Given the description of an element on the screen output the (x, y) to click on. 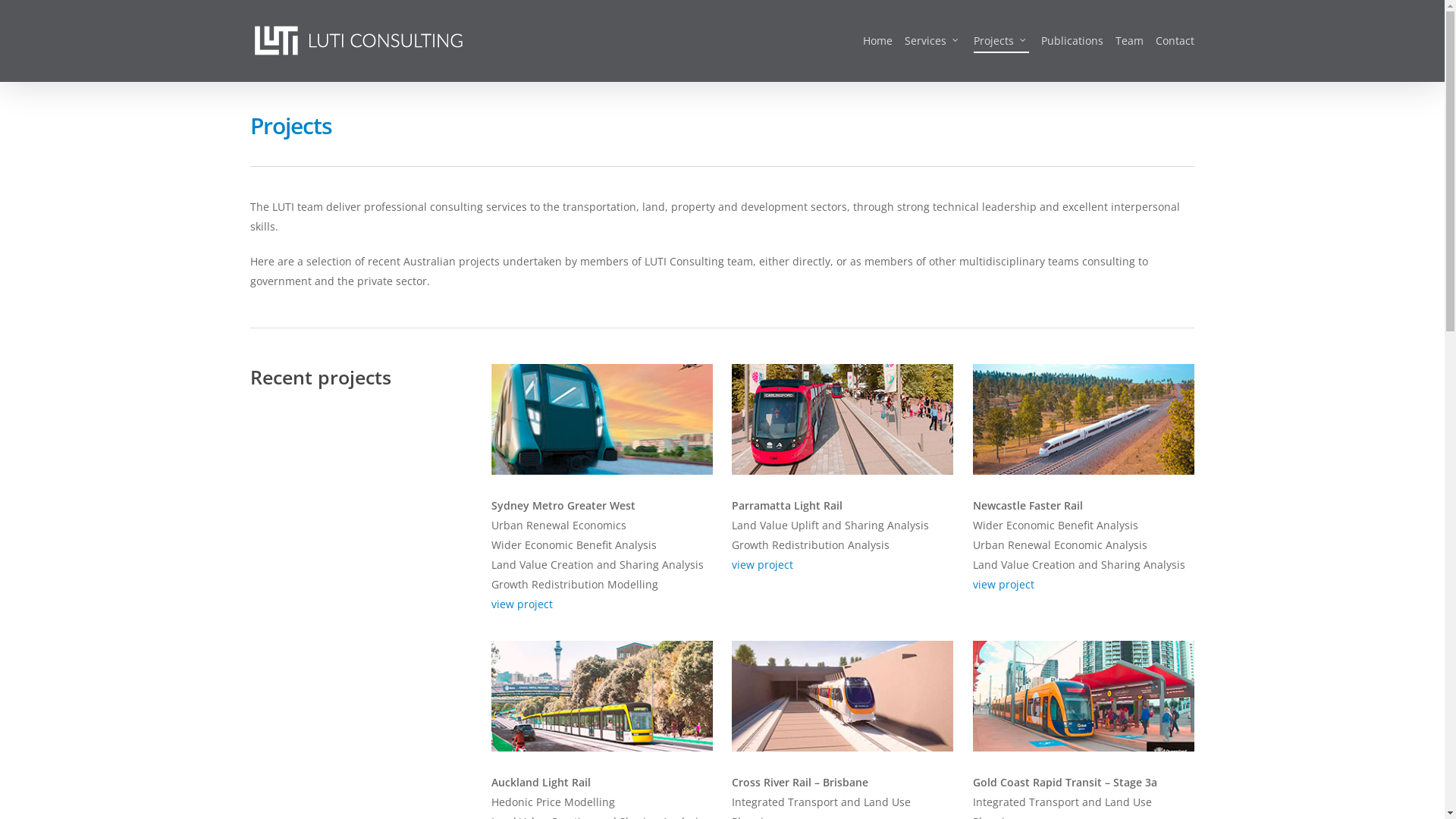
Publications Element type: text (1072, 40)
Contact Element type: text (1174, 40)
view project Element type: text (521, 603)
Services Element type: text (932, 40)
Team Element type: text (1129, 40)
view project Element type: text (762, 564)
view project Element type: text (1003, 584)
Projects Element type: text (1001, 40)
Home Element type: text (877, 40)
